Given the description of an element on the screen output the (x, y) to click on. 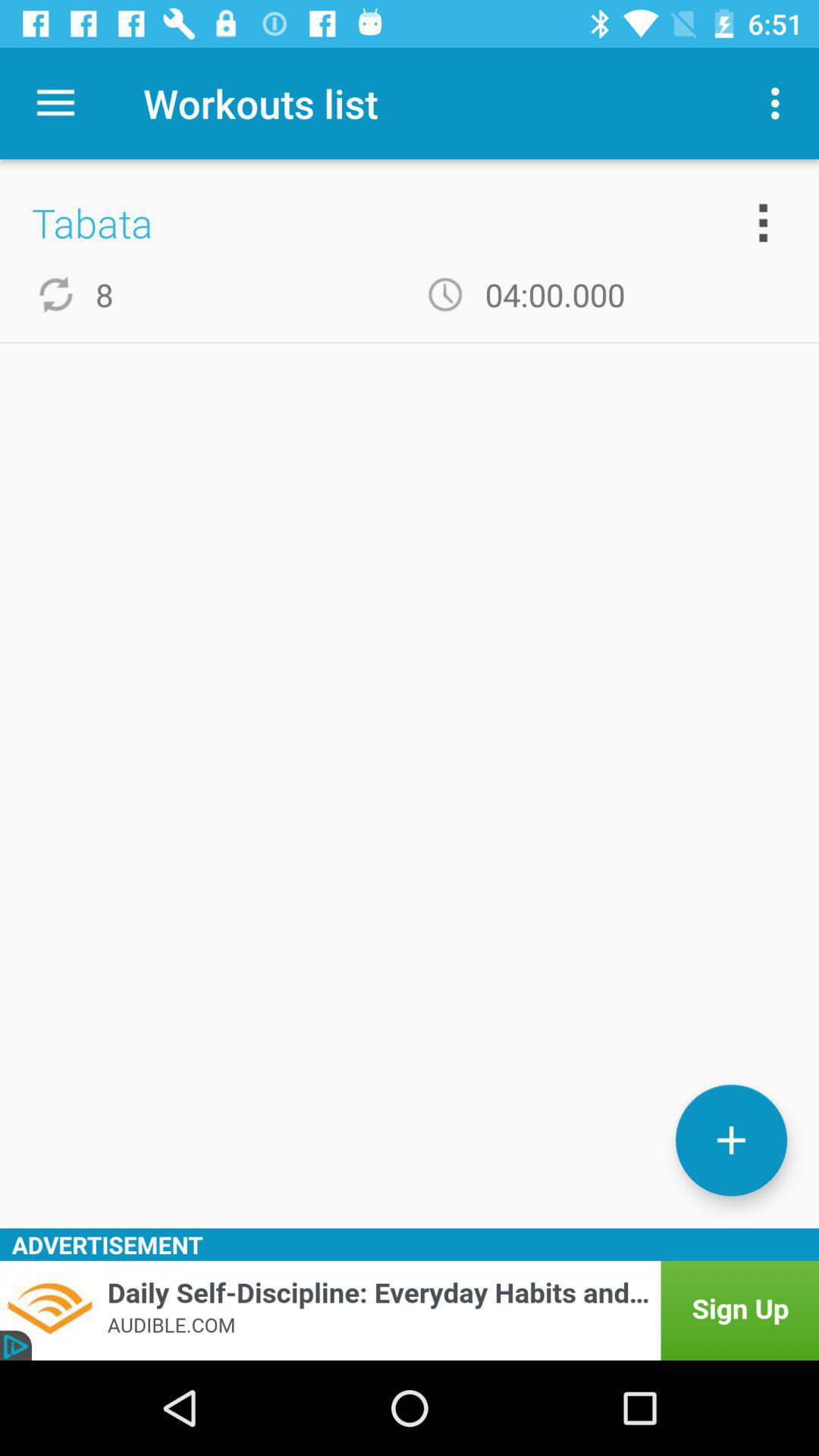
turn off item below 04:00.000 icon (731, 1140)
